Given the description of an element on the screen output the (x, y) to click on. 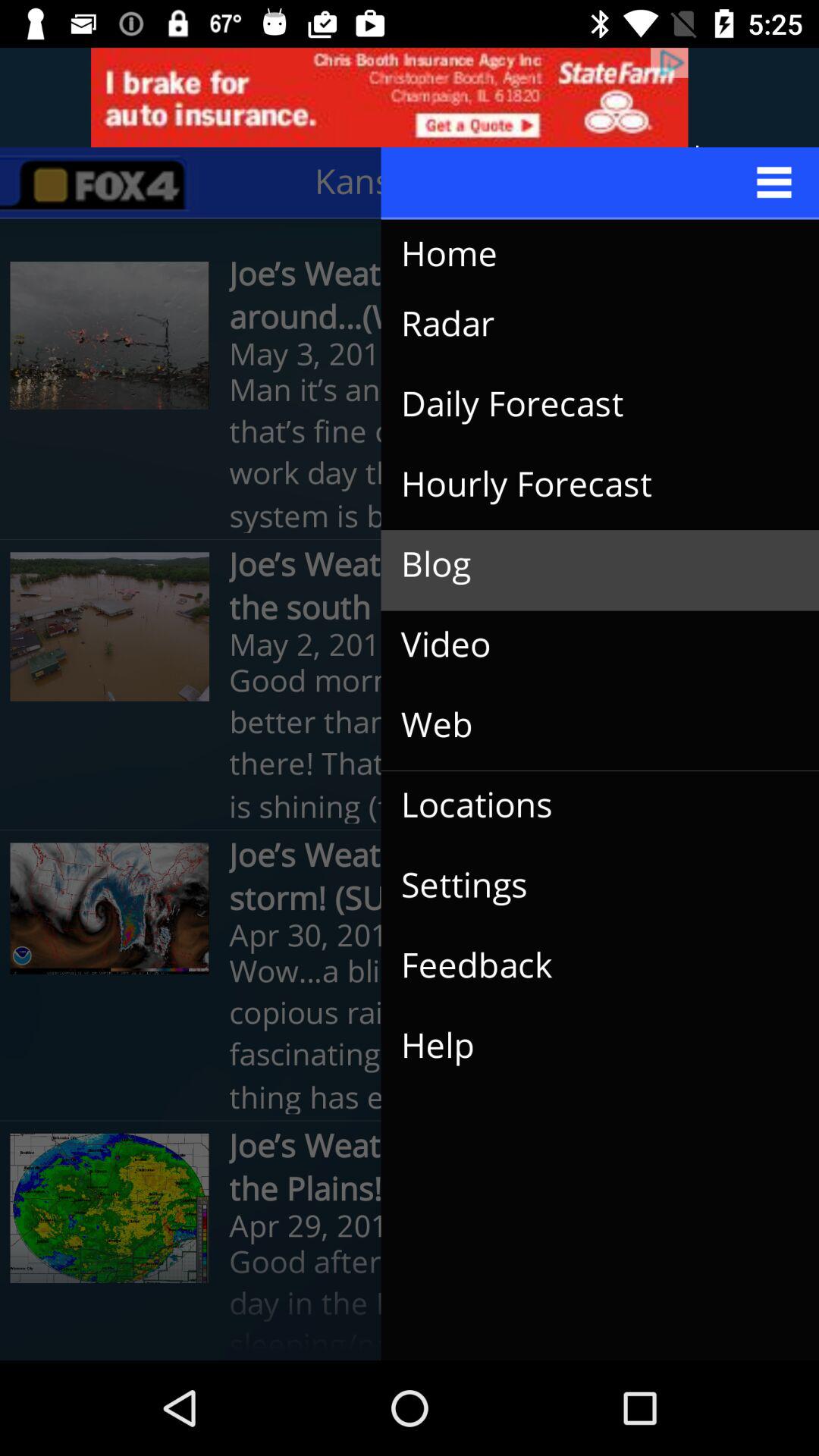
scroll to the hourly forecast (587, 484)
